Given the description of an element on the screen output the (x, y) to click on. 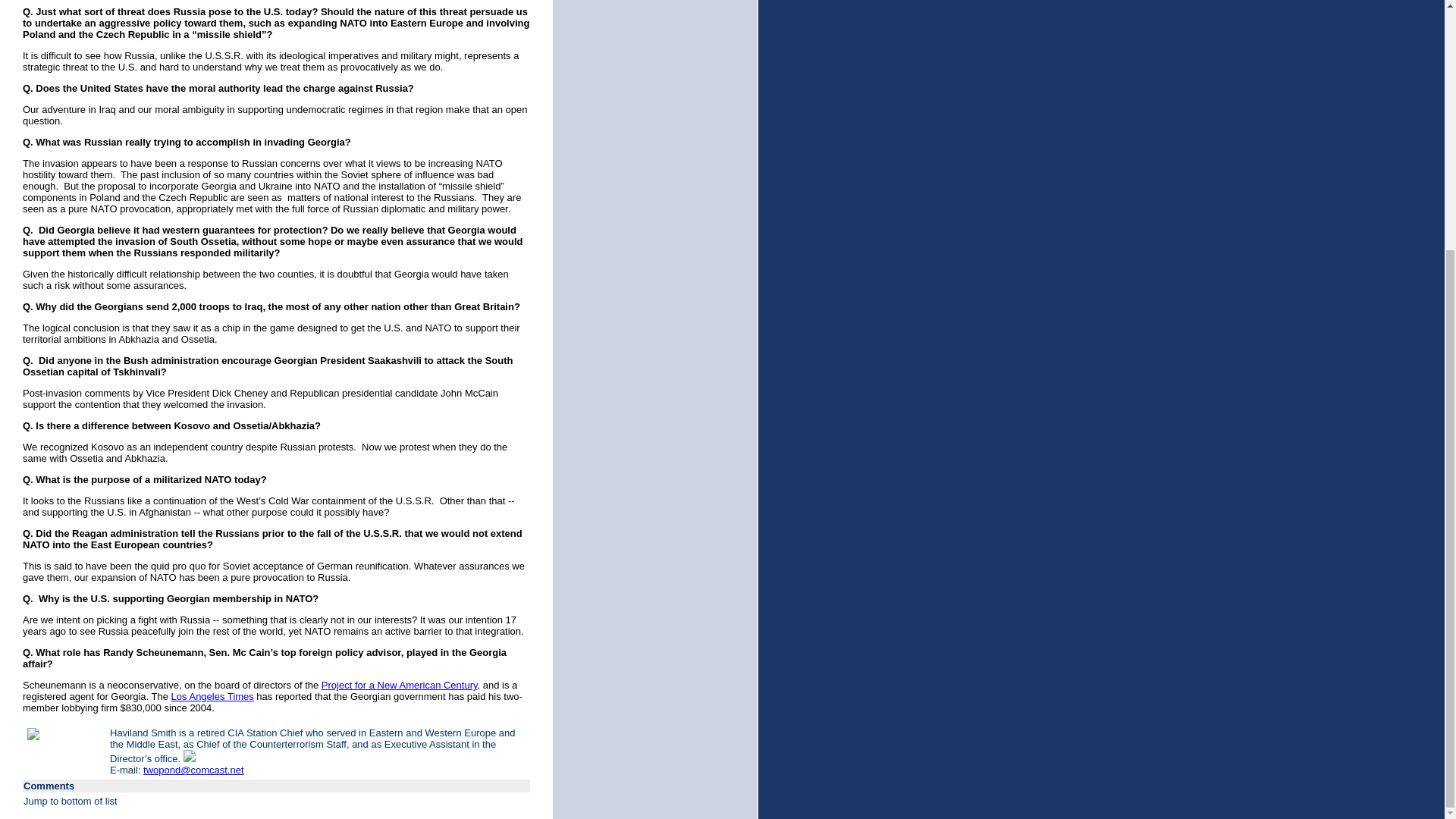
Los Angeles Times (212, 696)
Jump to bottom of list (70, 800)
Project for a New American Century (399, 685)
